Given the description of an element on the screen output the (x, y) to click on. 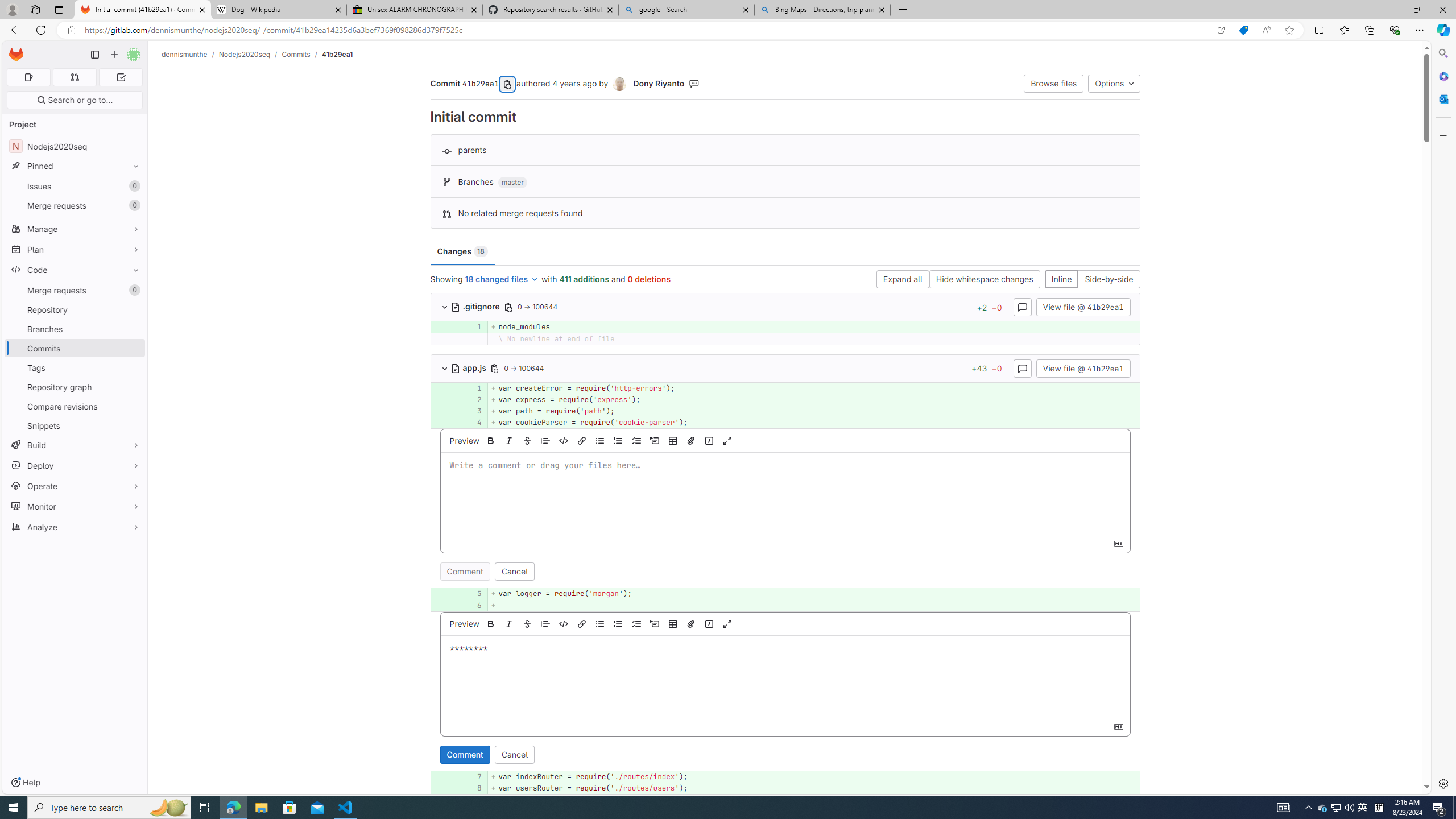
Monitor (74, 506)
AutomationID: 4a68969ef8e858229267b842dedf42ab5dde4d50_0_6 (785, 605)
Deploy (74, 465)
4 (472, 422)
dennismunthe/ (189, 53)
Merge requests 0 (74, 289)
Pin Tags (132, 367)
Snippets (74, 425)
Attach a file or image (690, 623)
